Given the description of an element on the screen output the (x, y) to click on. 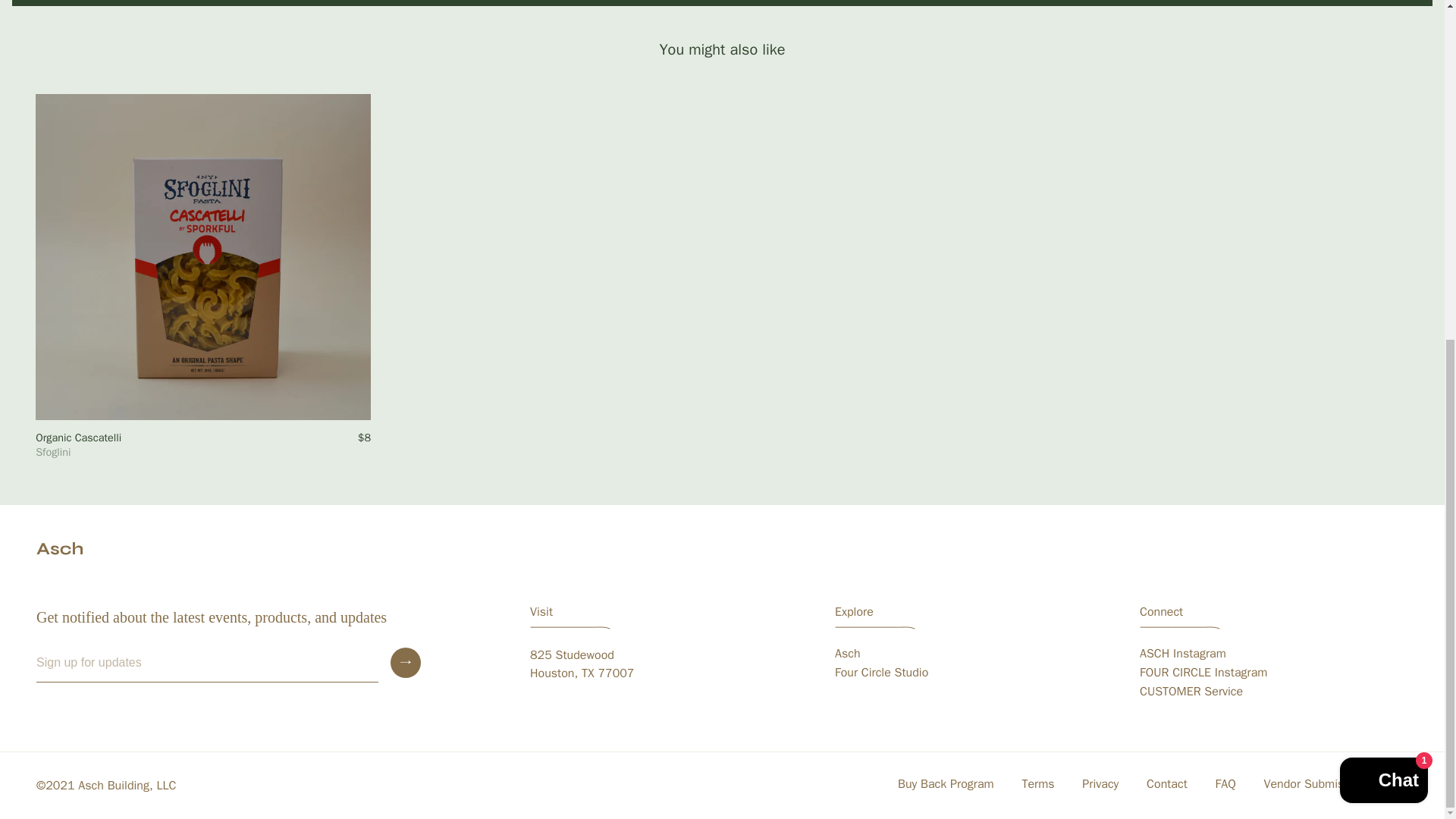
Asch (847, 653)
FOUR CIRCLE Instagram (1203, 672)
Terms (1037, 784)
Four Circle Studio (881, 672)
Shopify online store chat (1383, 207)
Privacy (1100, 784)
ASCH Instagram (1182, 653)
Buy Back Program (945, 784)
FAQ (1225, 784)
Asch (64, 548)
Contact (1166, 784)
CUSTOMER Service (581, 664)
Vendor Submission Form (1191, 691)
